Given the description of an element on the screen output the (x, y) to click on. 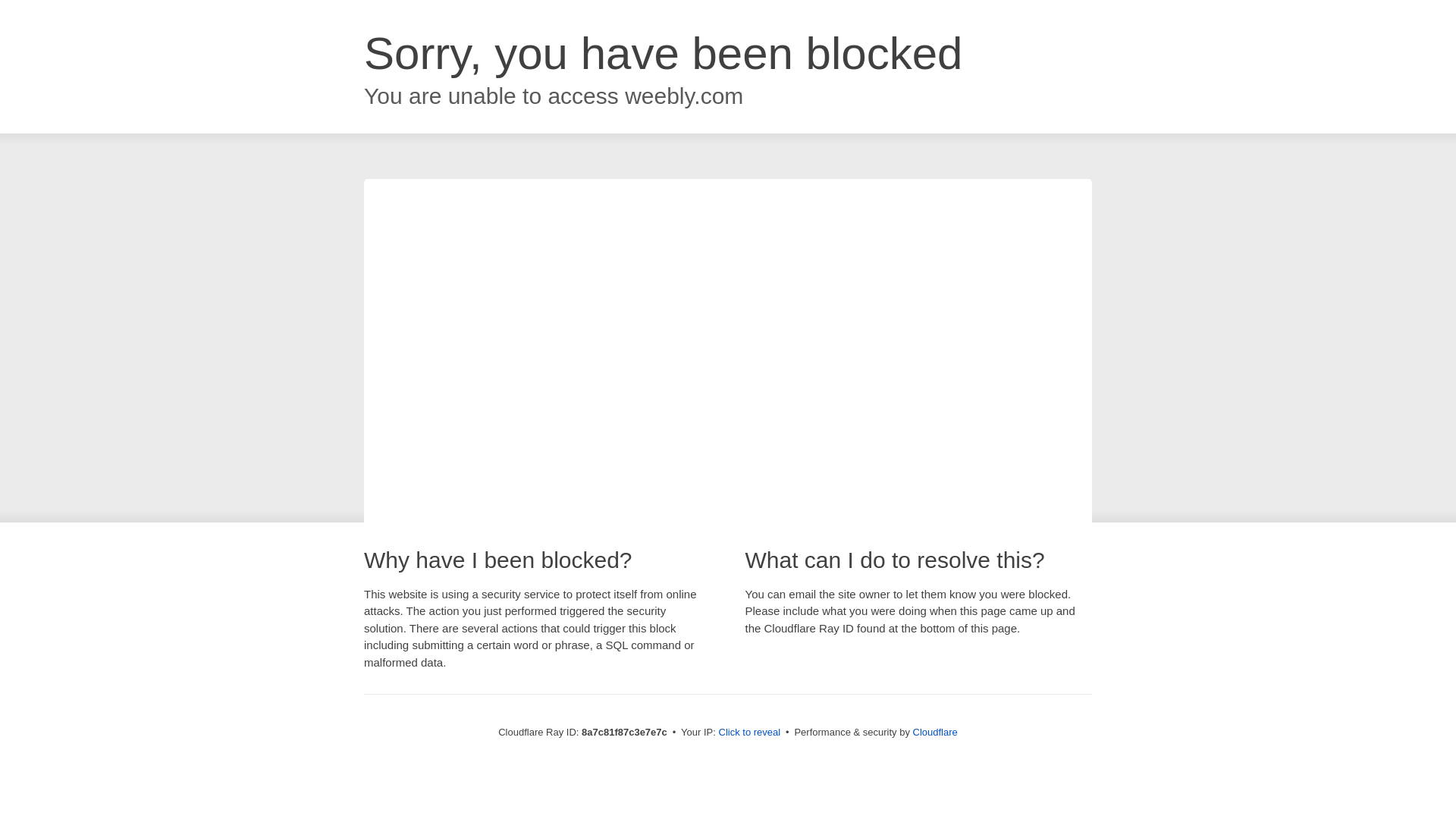
Cloudflare (935, 731)
Click to reveal (749, 732)
